Given the description of an element on the screen output the (x, y) to click on. 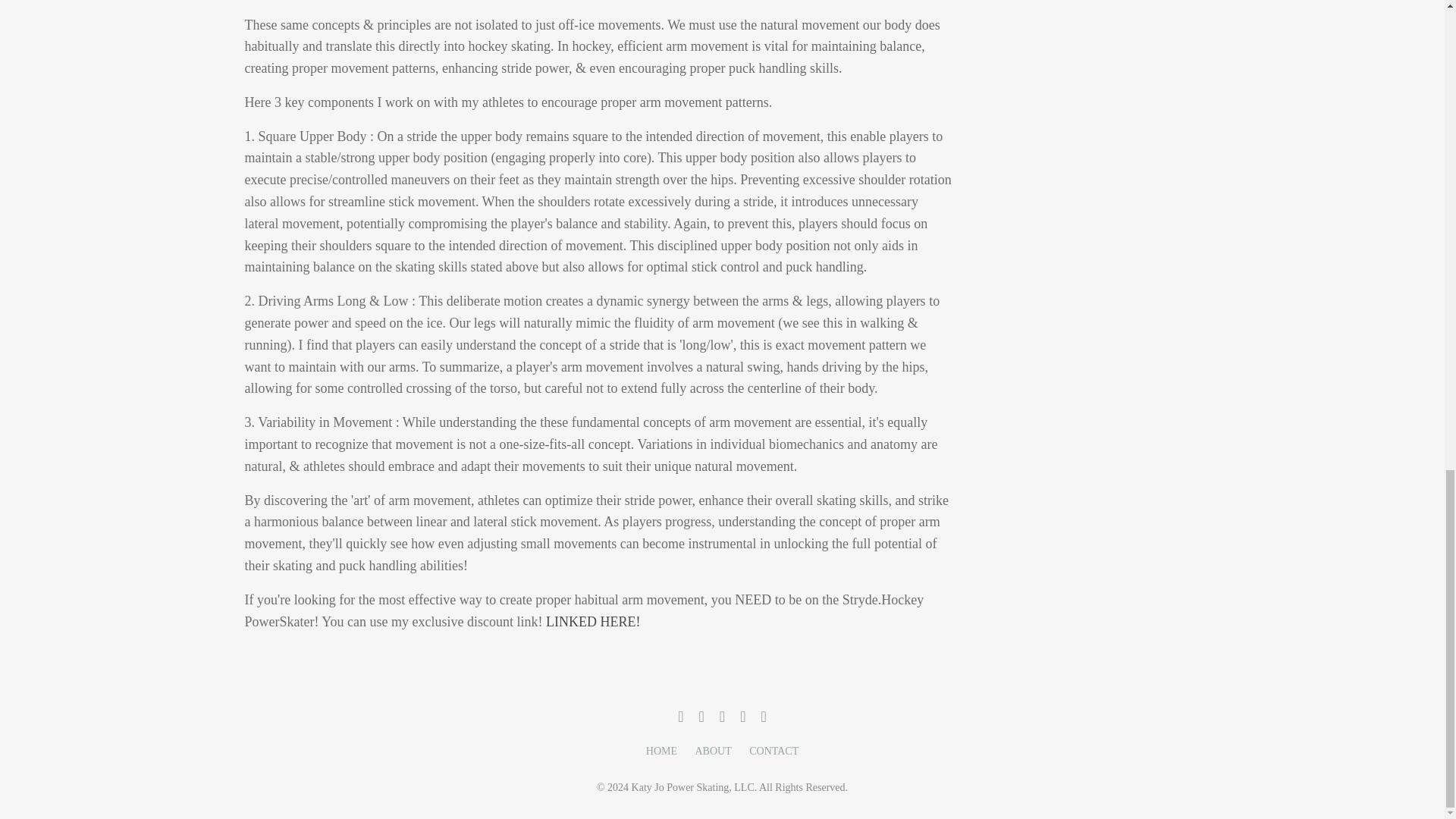
CONTACT (773, 750)
ABOUT (712, 750)
HOME (661, 750)
LINKED HERE! (593, 621)
